Given the description of an element on the screen output the (x, y) to click on. 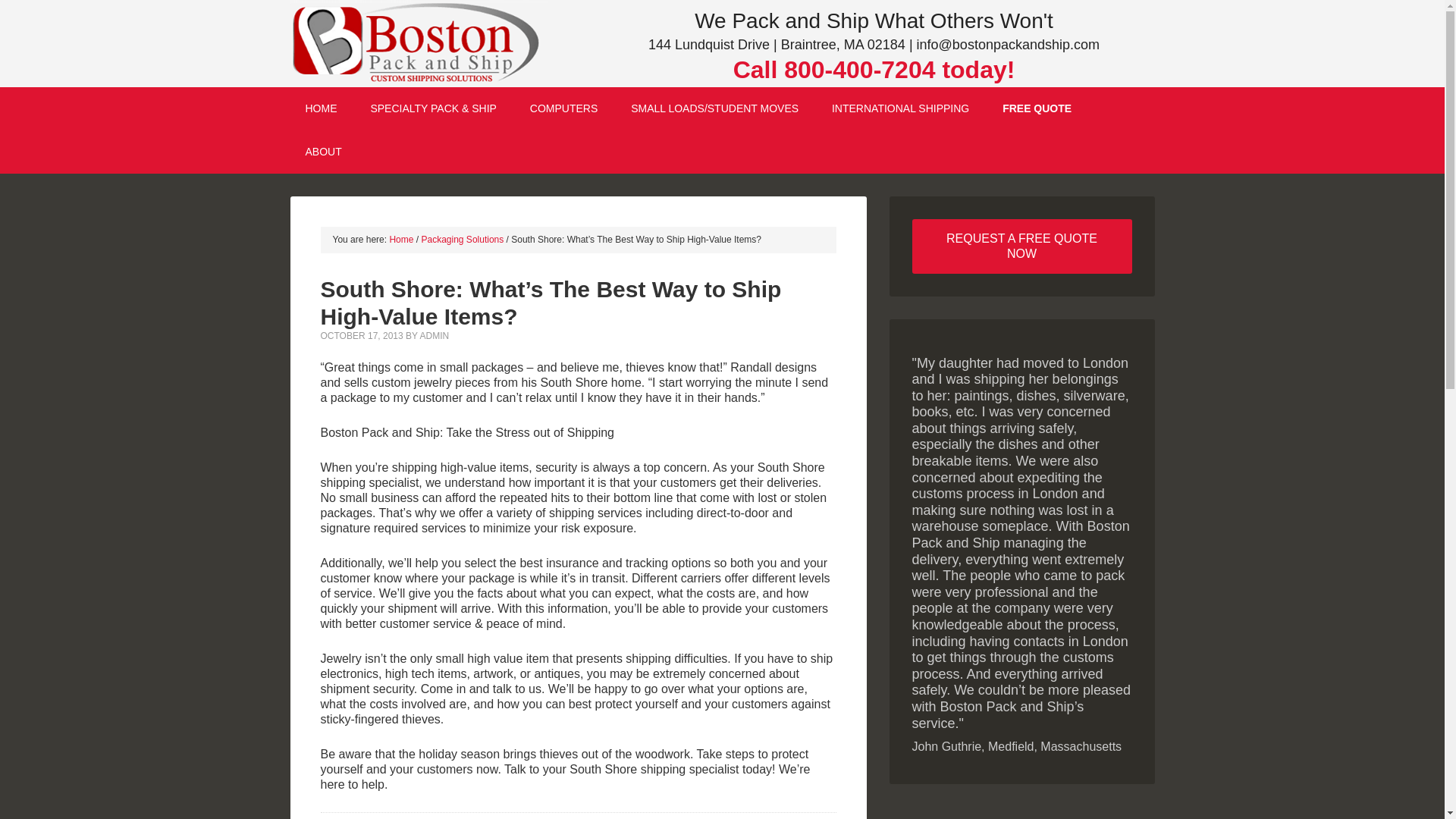
Packaging Solutions (462, 239)
BOSTON PACK AND SHIP (418, 43)
HOME (320, 108)
Home (400, 239)
ADMIN (433, 335)
FREE QUOTE (1036, 108)
REQUEST A FREE QUOTE NOW (1021, 246)
INTERNATIONAL SHIPPING (900, 108)
COMPUTERS (563, 108)
ABOUT (322, 151)
